Given the description of an element on the screen output the (x, y) to click on. 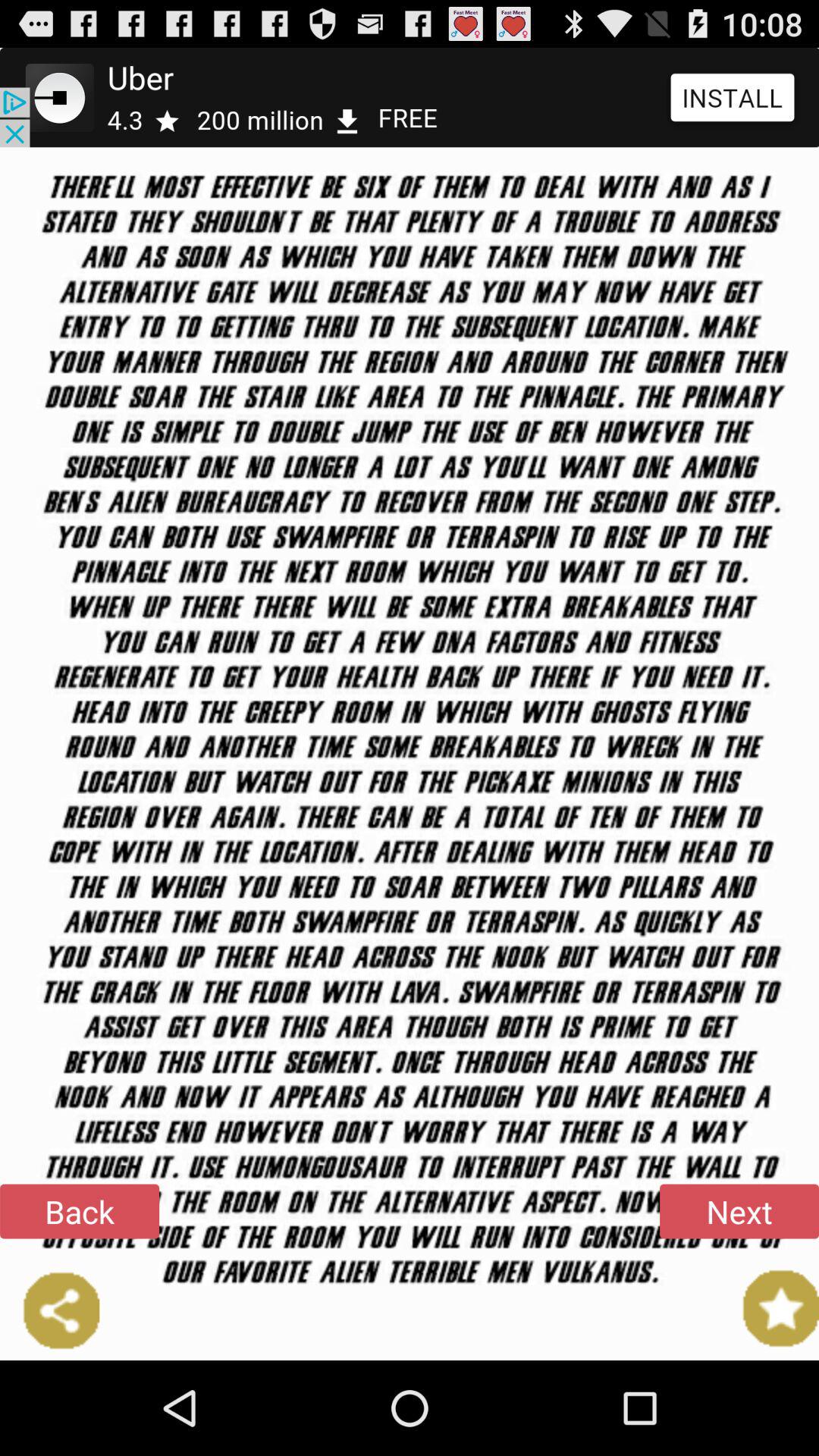
open item to the right of the back item (739, 1211)
